Given the description of an element on the screen output the (x, y) to click on. 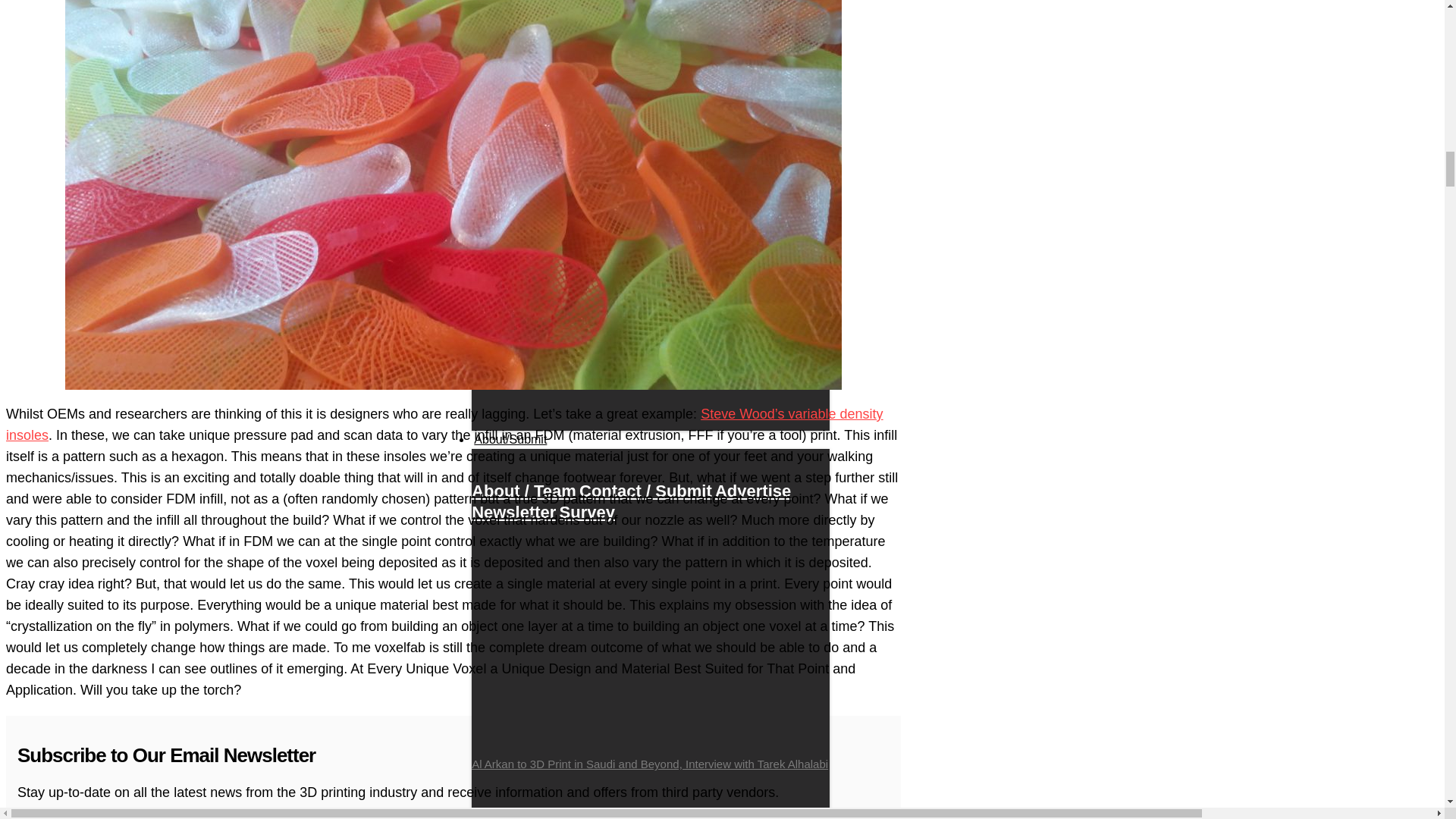
Subscribe (295, 817)
